Given the description of an element on the screen output the (x, y) to click on. 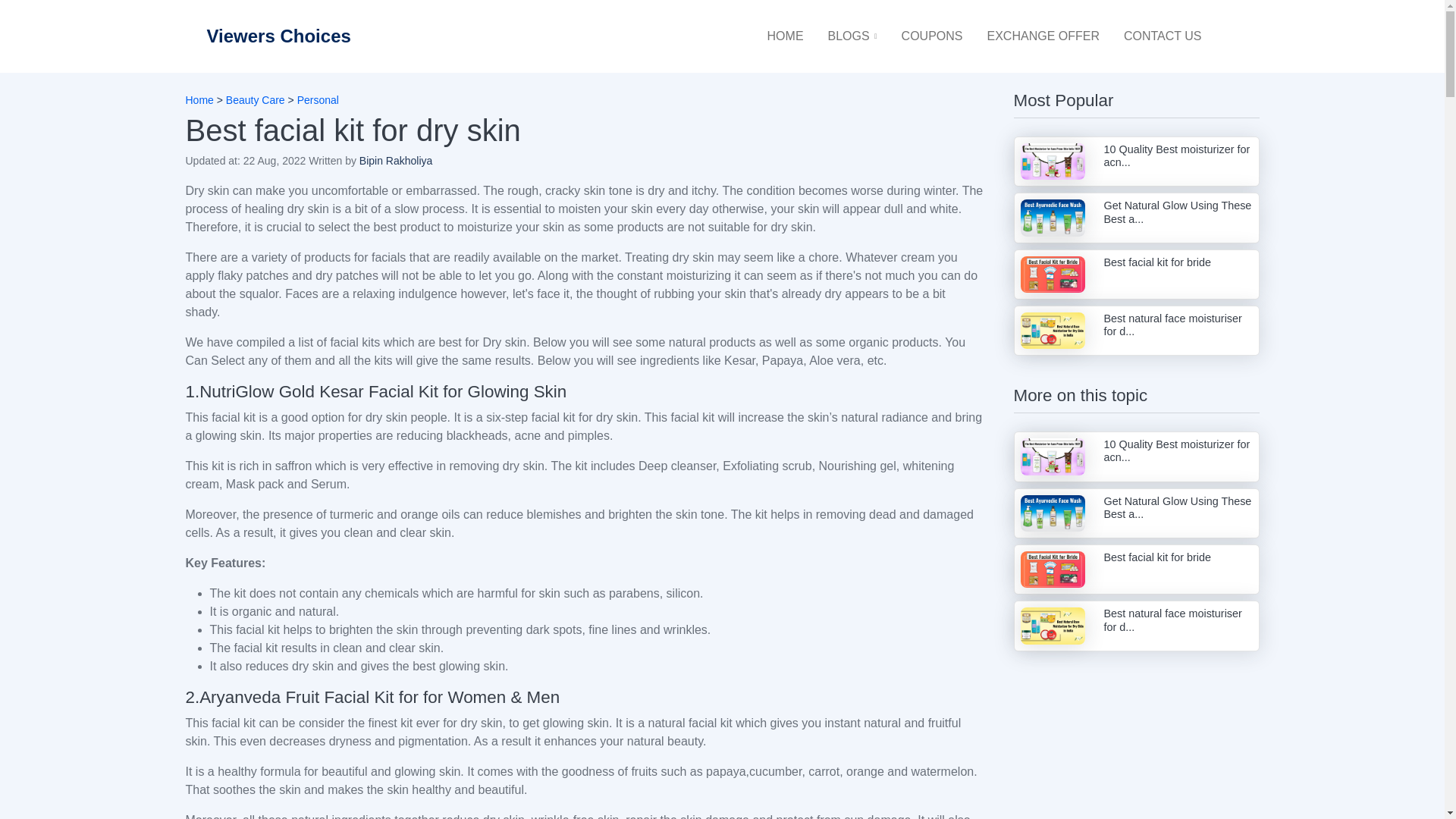
10 Quality Best moisturizer for acn... (1136, 456)
Home (198, 100)
CONTACT US (1163, 36)
Personal (318, 100)
Beauty Care (255, 100)
Best natural face moisturiser for d... (1136, 330)
Best facial kit for bride (1136, 569)
HOME (785, 36)
EXCHANGE OFFER (1043, 36)
Bipin Rakholiya (395, 160)
